Given the description of an element on the screen output the (x, y) to click on. 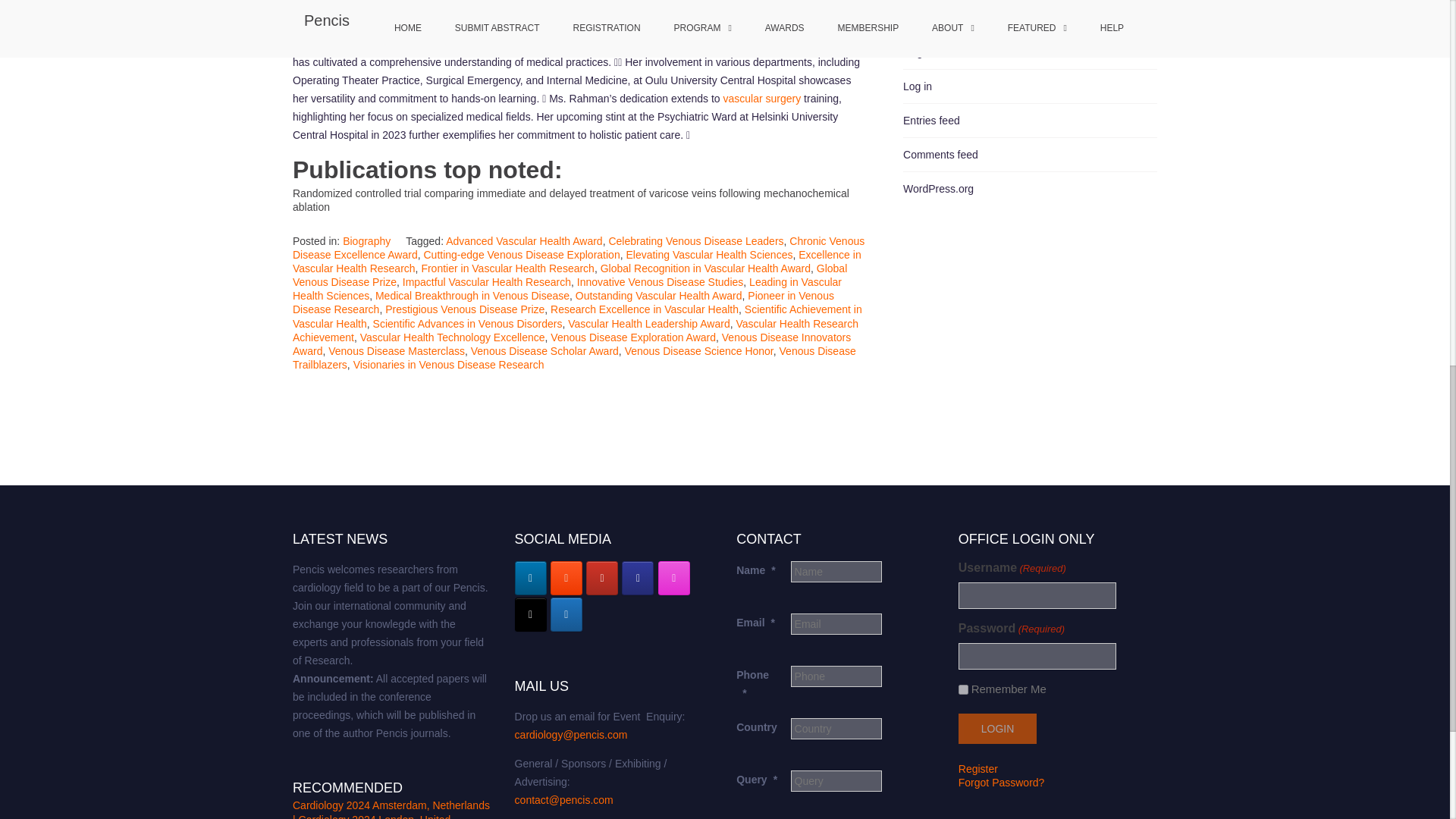
Cutting-edge Venous Disease Exploration (521, 254)
Celebrating Venous Disease Leaders (695, 241)
Pencis on Blogger B (566, 578)
Pencis on Linkedin (531, 578)
vascular surgery (761, 98)
1 (963, 689)
Login (997, 728)
Chronic Venous Disease Excellence Award (578, 248)
Pencis on X Twitter (531, 614)
Register (977, 768)
Pencis on Tumblr (637, 578)
